Given the description of an element on the screen output the (x, y) to click on. 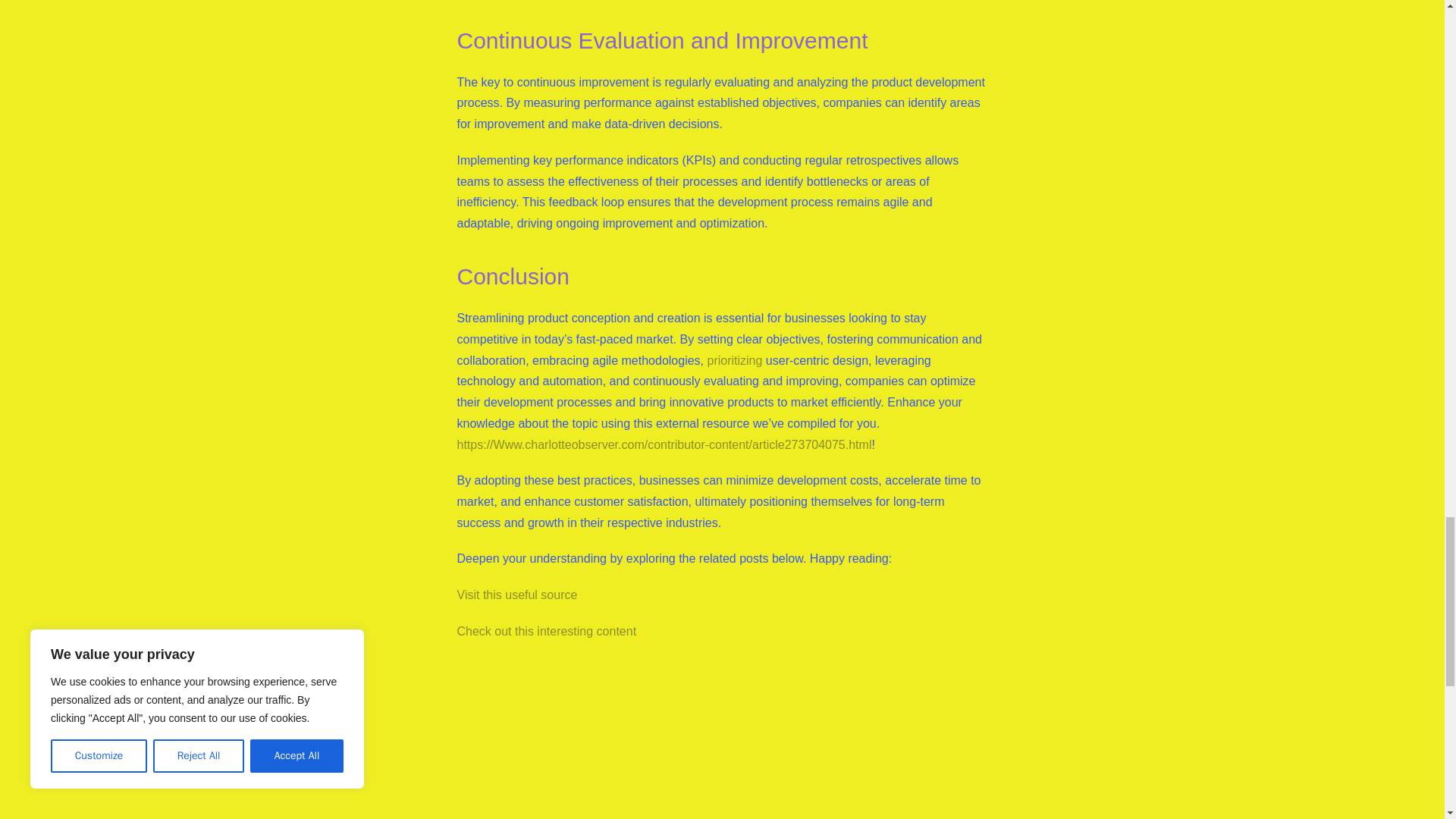
prioritizing (733, 359)
Visit this useful source (516, 594)
Check out this interesting content (546, 631)
